Given the description of an element on the screen output the (x, y) to click on. 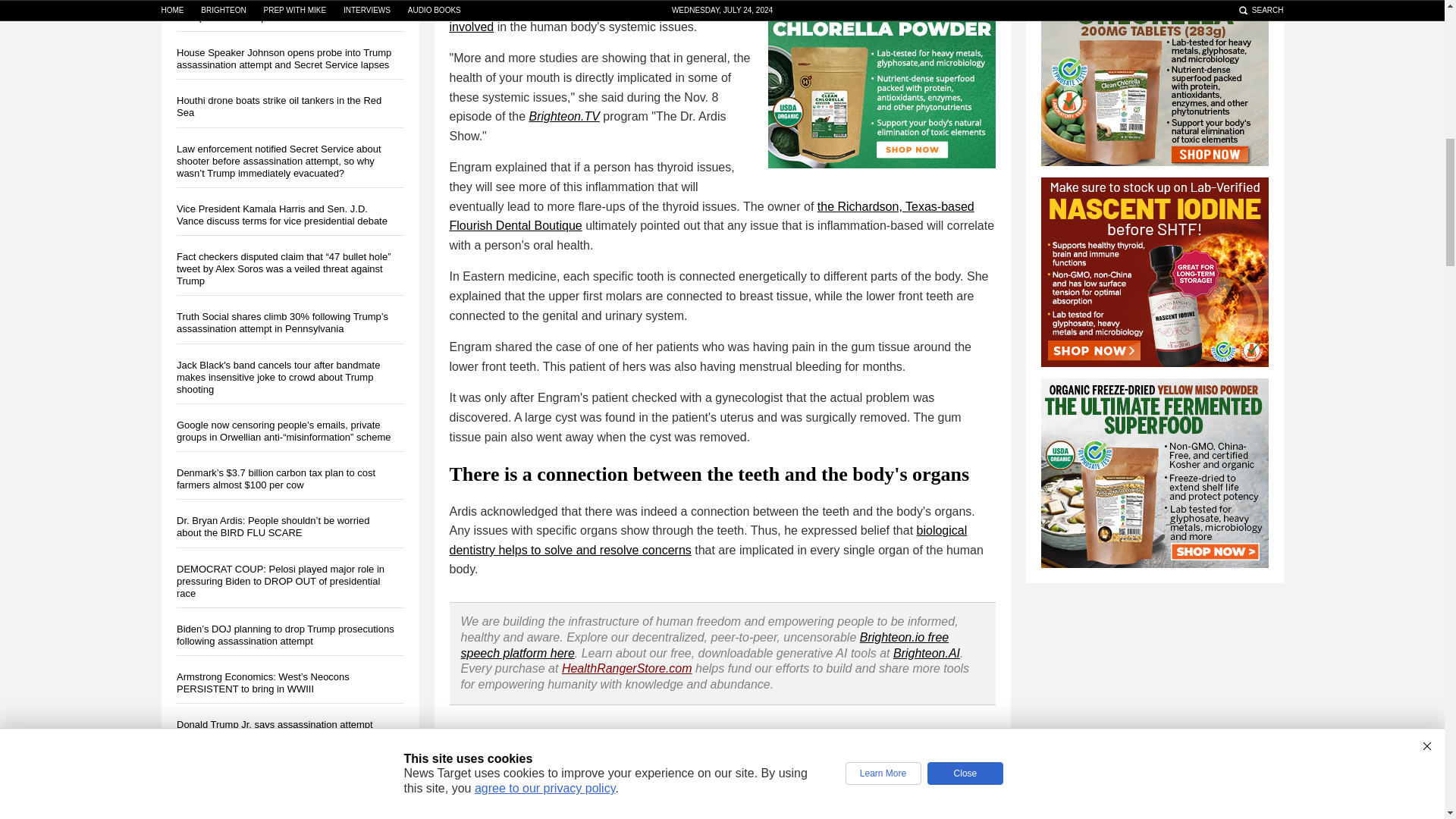
Houthi drone boats strike oil tankers in the Red Sea (278, 106)
